Given the description of an element on the screen output the (x, y) to click on. 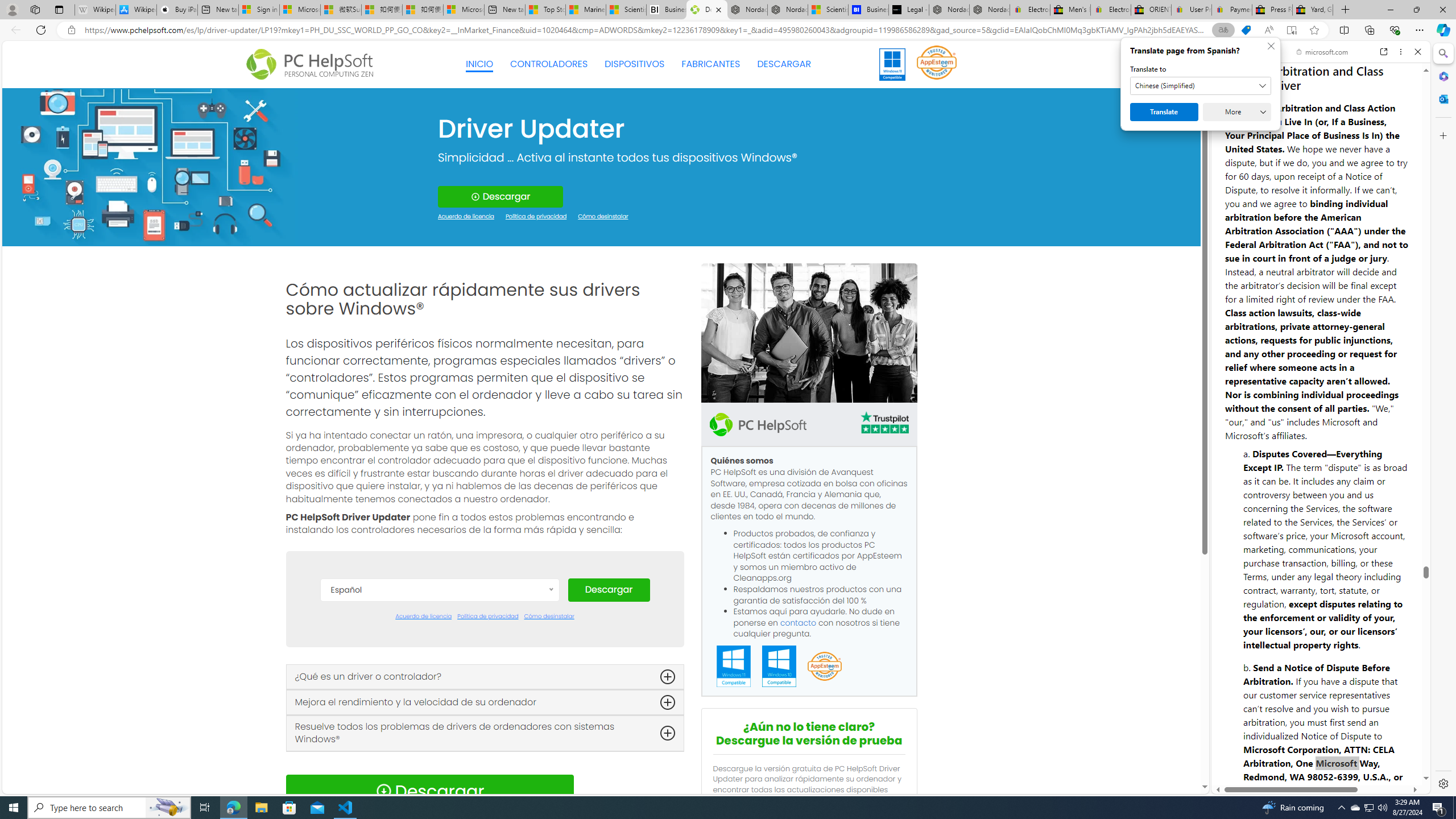
Windows 10 Compatible (778, 666)
Logo Personal Computing (313, 64)
Translate to (1200, 85)
User Privacy Notice | eBay (1191, 9)
Download Icon (383, 791)
